Given the description of an element on the screen output the (x, y) to click on. 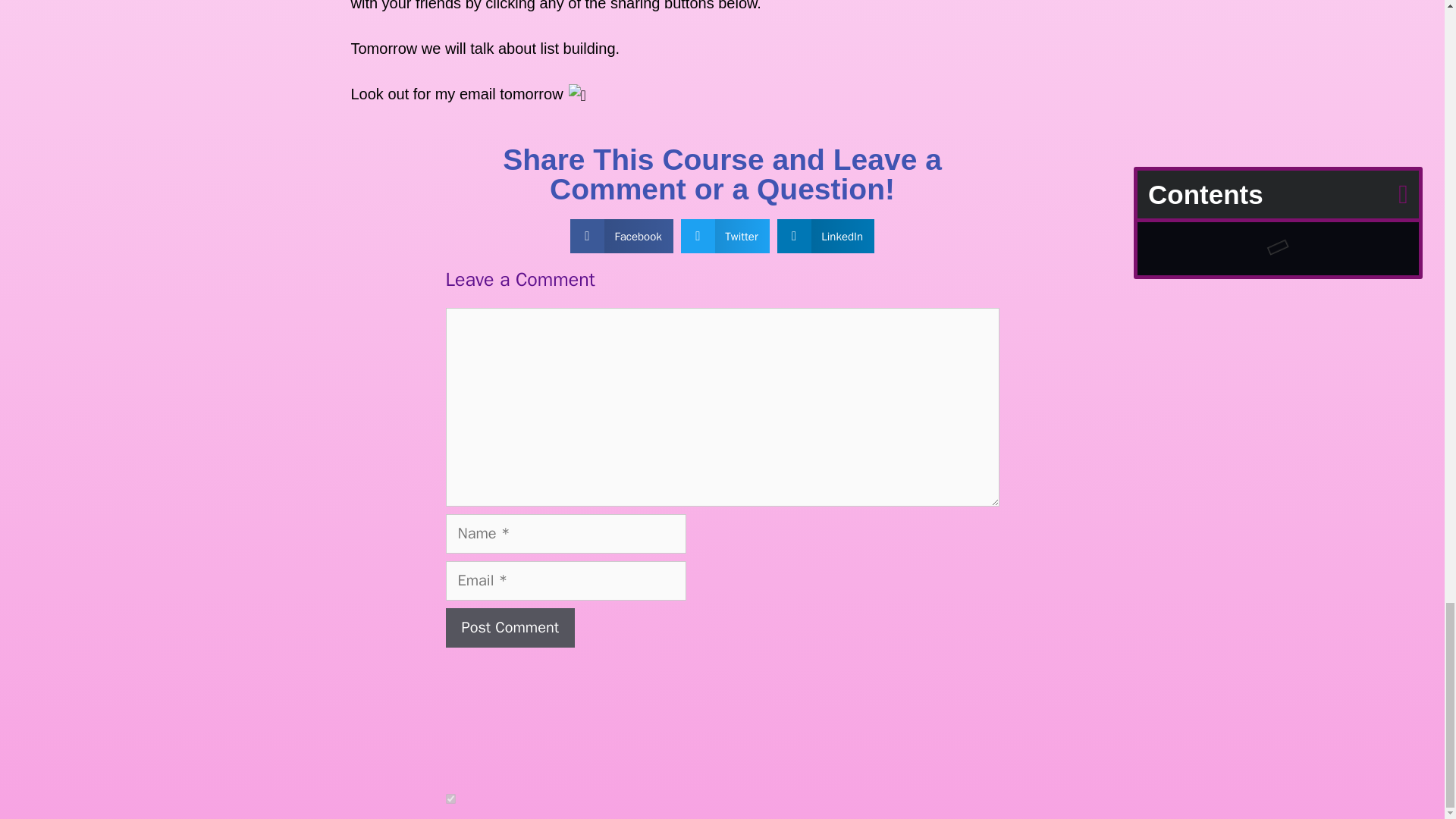
on (450, 798)
Post Comment (510, 627)
Post Comment (510, 627)
CommentLuv is enabled (524, 798)
